Given the description of an element on the screen output the (x, y) to click on. 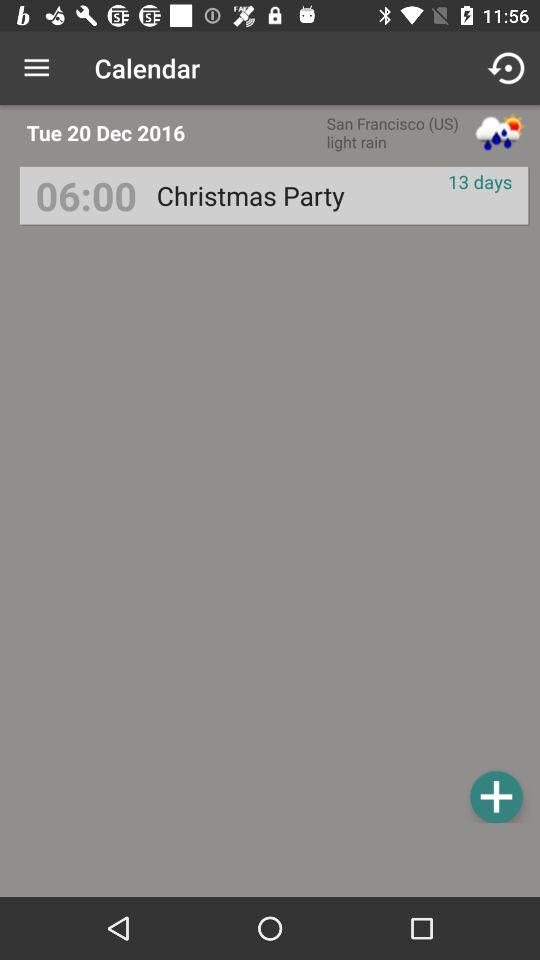
tap item to the right of 06:00 item (250, 195)
